Given the description of an element on the screen output the (x, y) to click on. 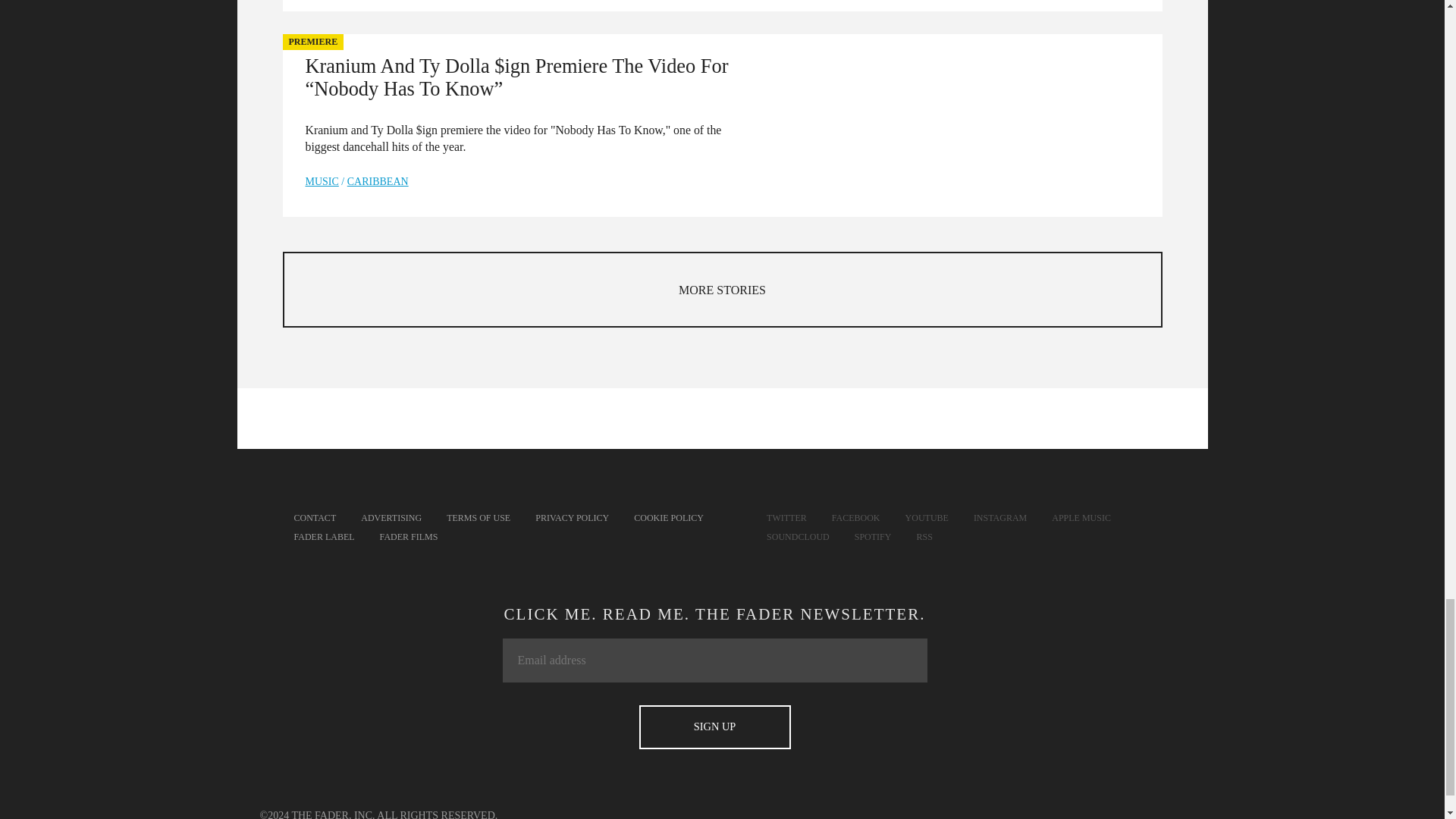
Sign Up (714, 727)
